Given the description of an element on the screen output the (x, y) to click on. 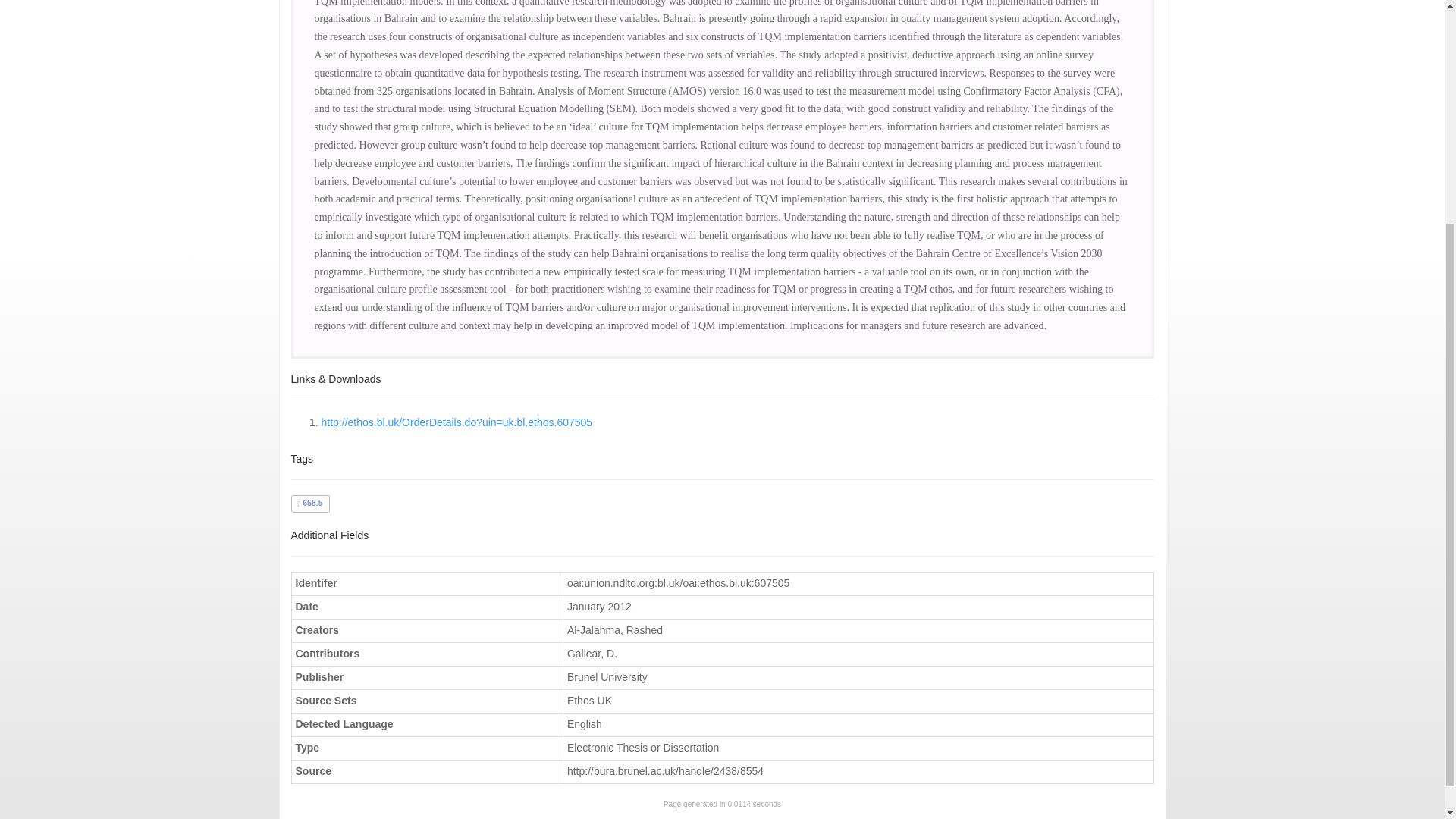
658.5 (309, 501)
